Given the description of an element on the screen output the (x, y) to click on. 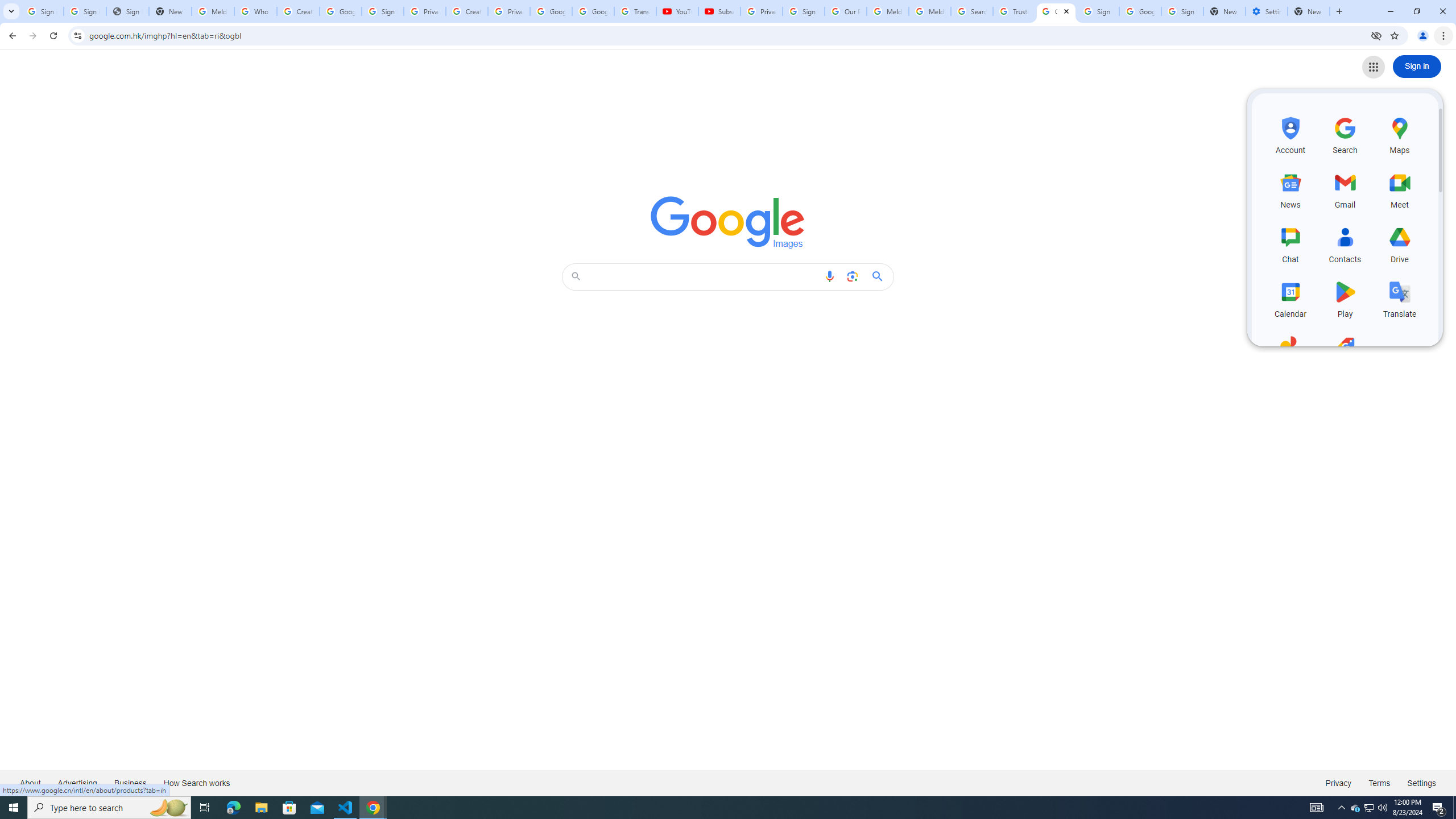
Search our Doodle Library Collection - Google Doodles (972, 11)
Google Search (880, 276)
Calendar, row 4 of 5 and column 1 of 3 in the first section (1290, 297)
Create your Google Account (467, 11)
Gmail, row 2 of 5 and column 2 of 3 in the first section (1344, 188)
Shopping, row 5 of 5 and column 2 of 3 in the first section (1344, 352)
Business (129, 782)
Who is my administrator? - Google Account Help (255, 11)
Trusted Information and Content - Google Safety Center (1013, 11)
Settings - Addresses and more (1266, 11)
